Given the description of an element on the screen output the (x, y) to click on. 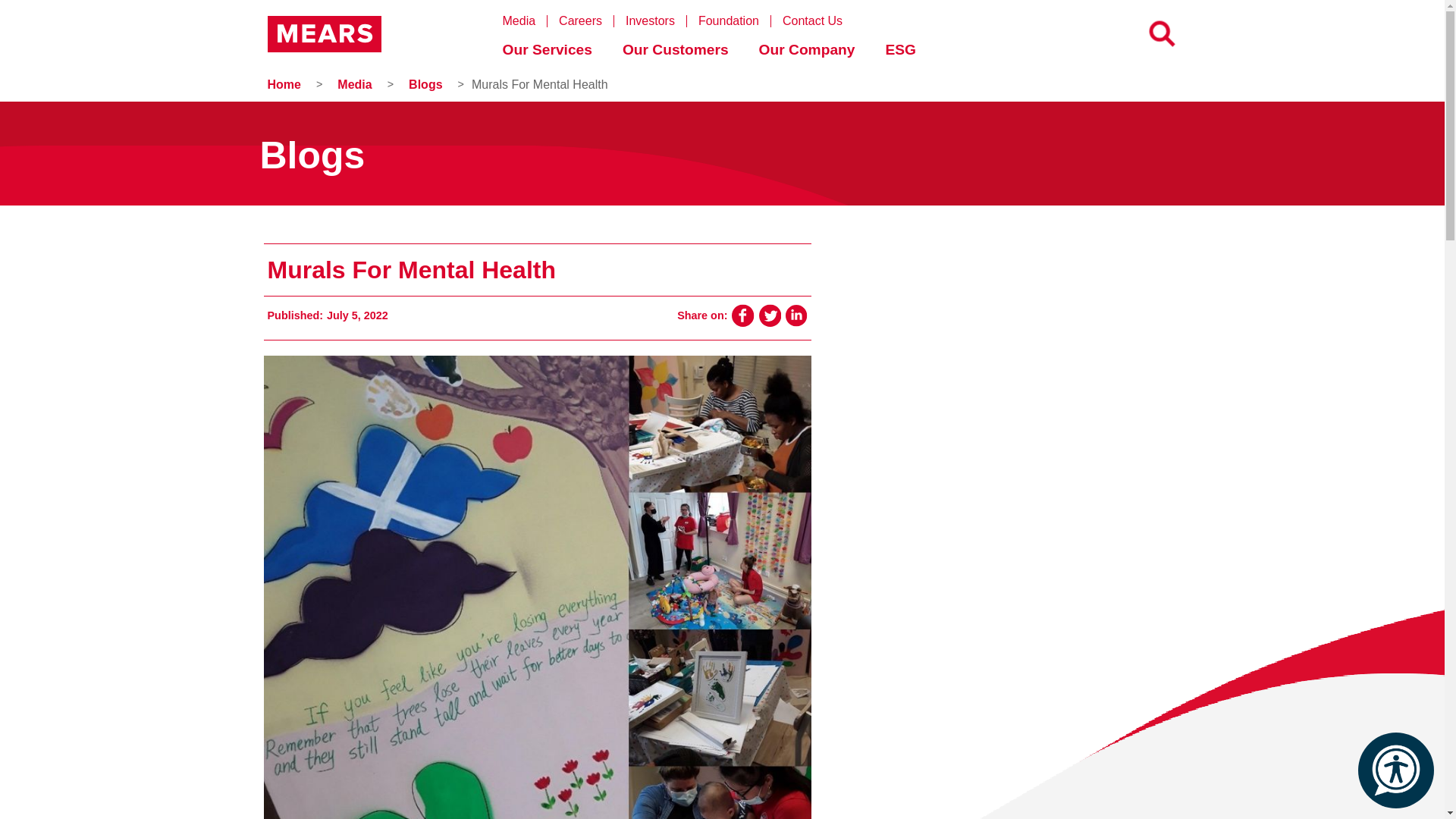
Media (524, 21)
Contact Us (818, 21)
ESG (904, 52)
Our Company (810, 52)
Tweet (769, 314)
Launch Recite Me (1396, 769)
Foundation (734, 21)
Search (28, 15)
Share on Facebook (742, 314)
Launch Recite Me (1396, 770)
